Given the description of an element on the screen output the (x, y) to click on. 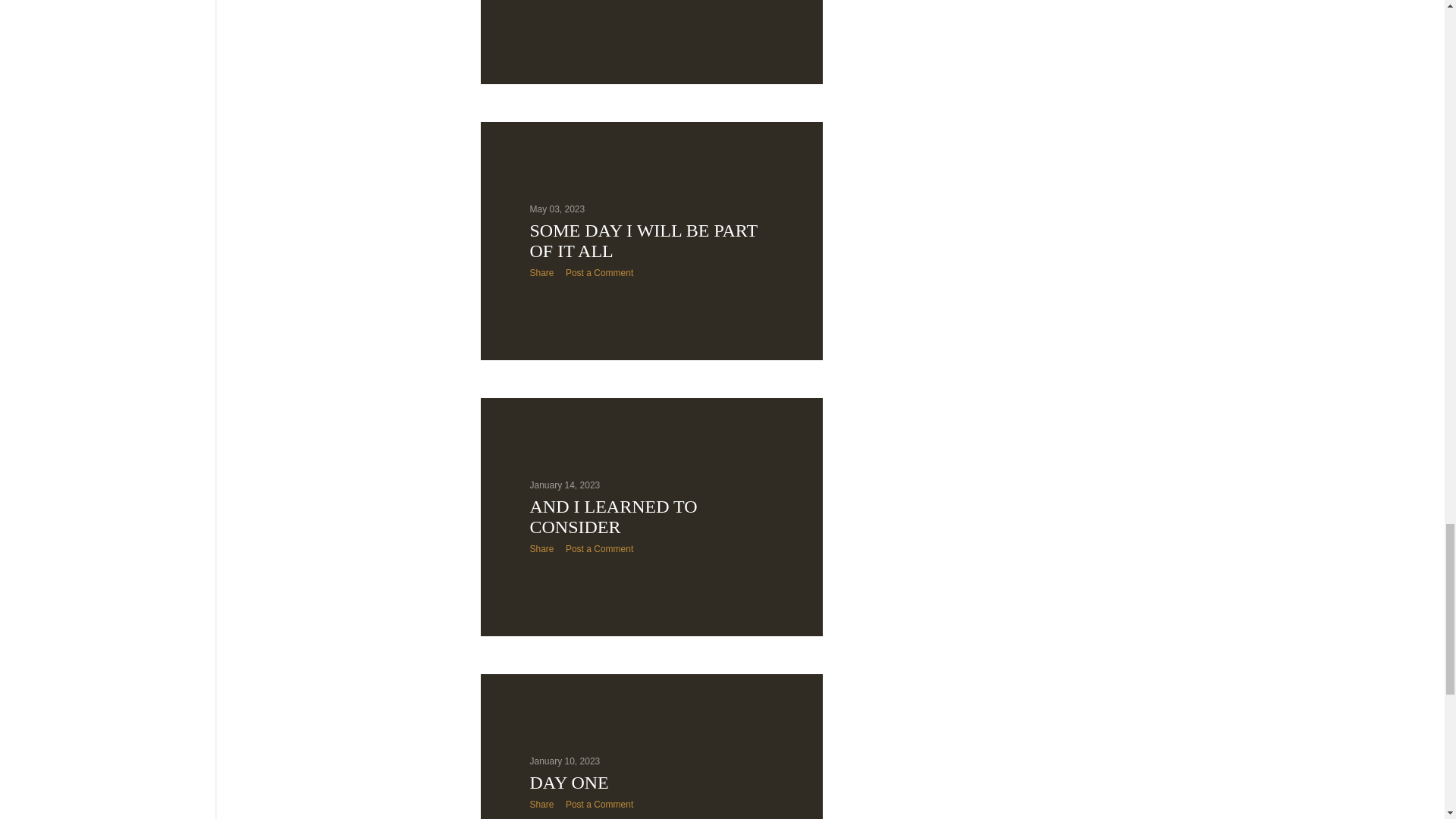
Post a Comment (599, 1)
Share (541, 1)
May 03, 2023 (557, 208)
